Given the description of an element on the screen output the (x, y) to click on. 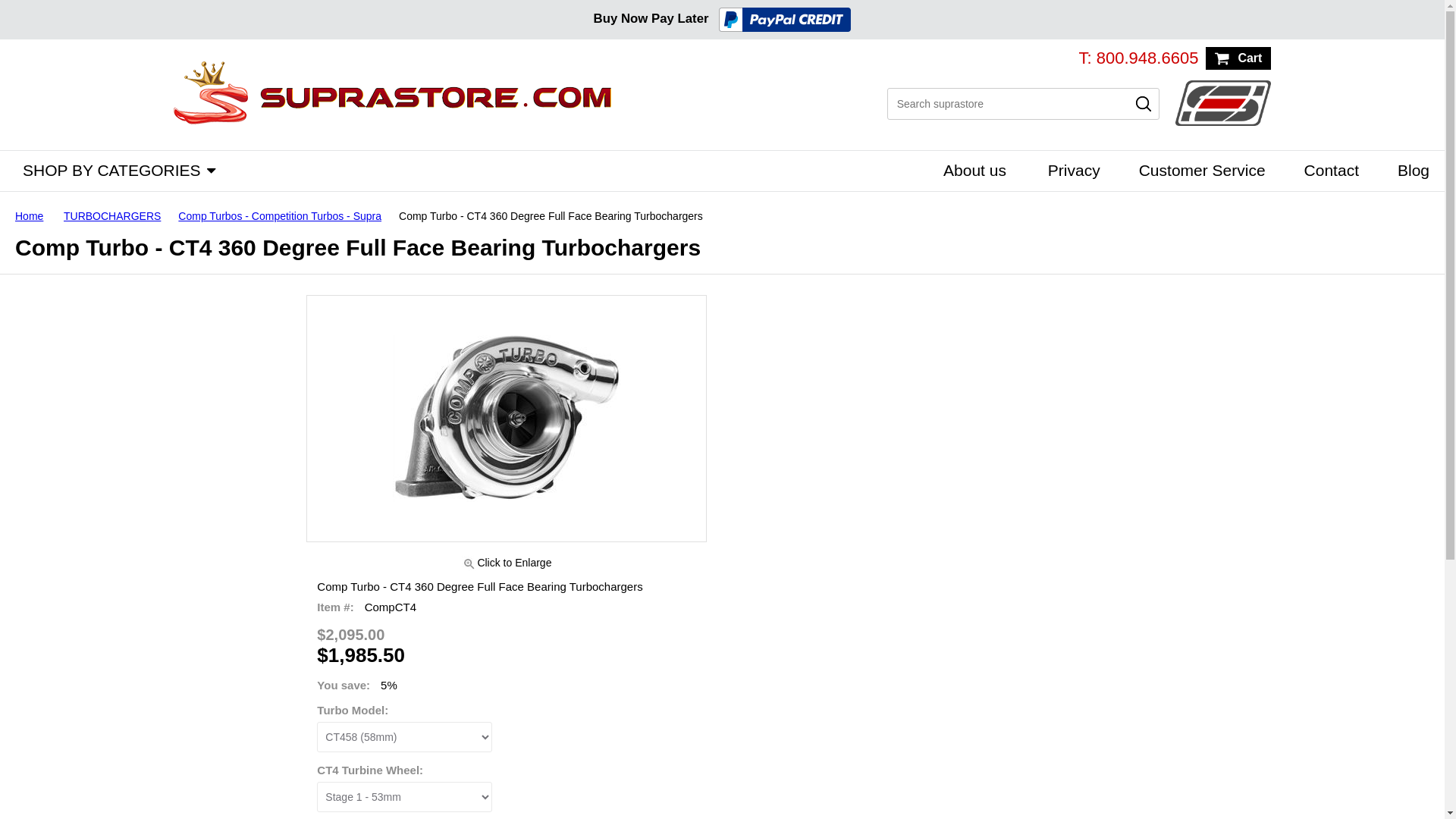
About us (971, 169)
Home (34, 215)
TURBOCHARGERS (117, 215)
T: 800.948.6605 (1138, 57)
Customer Service (1198, 169)
Submit (1143, 103)
Privacy (1070, 169)
Comp Turbo - CT4 360 Degree Full Face Bearing Turbochargers (506, 418)
SHOP BY CATEGORIES (107, 169)
Comp Turbos - Competition Turbos - Supra (285, 215)
